Given the description of an element on the screen output the (x, y) to click on. 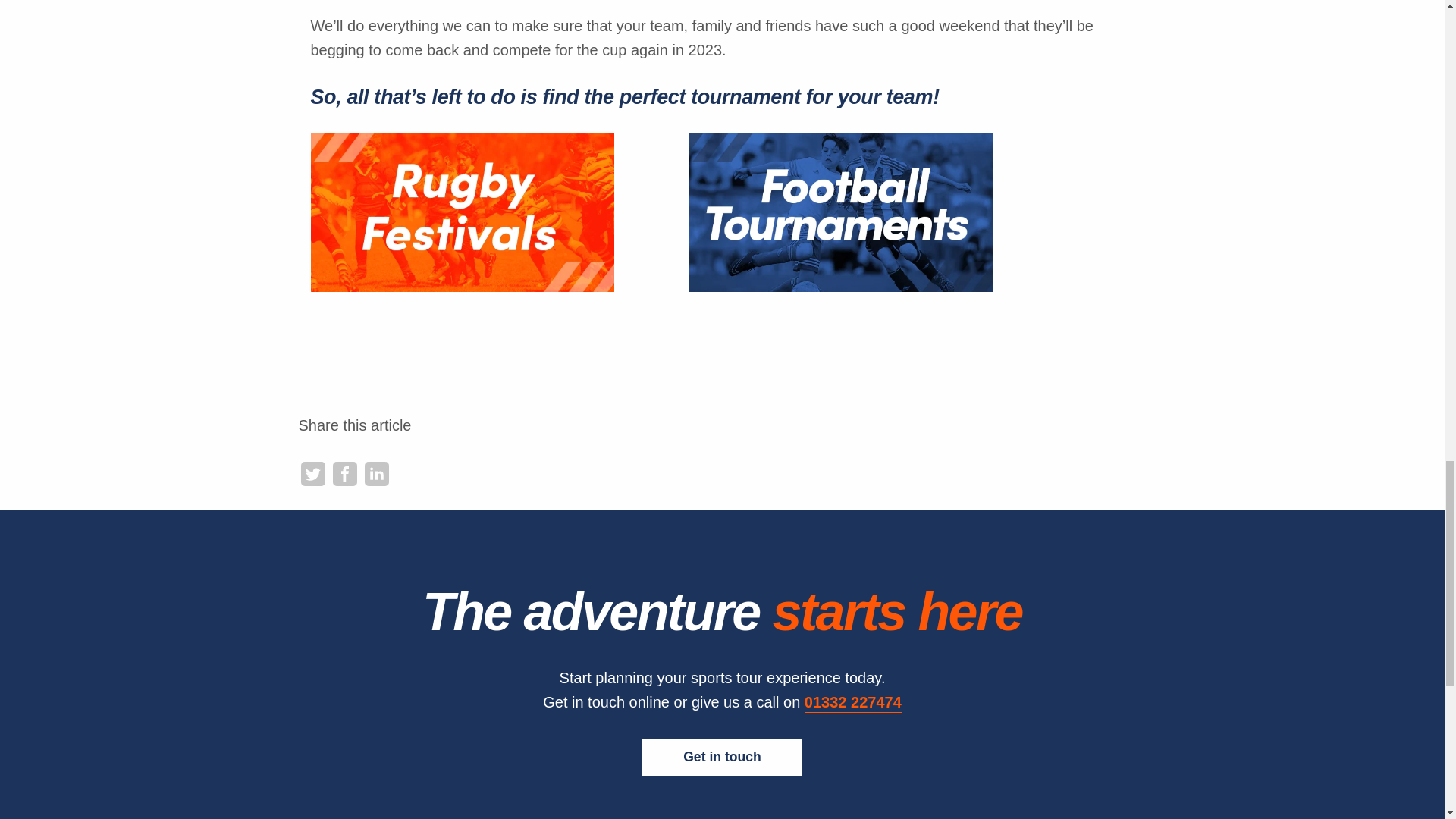
Facebook (344, 473)
LinkedIn (376, 473)
Twitter (311, 473)
